Given the description of an element on the screen output the (x, y) to click on. 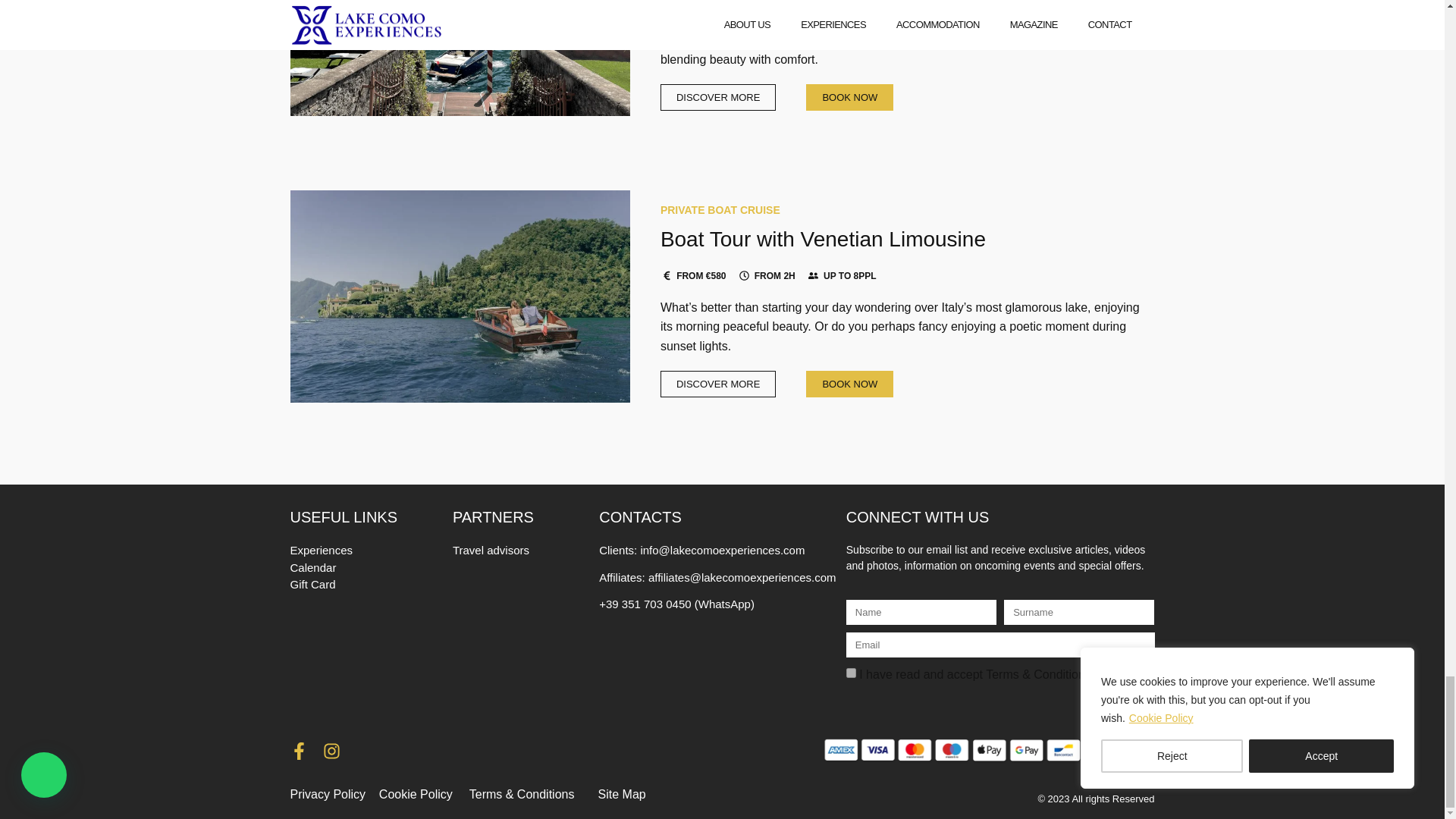
on (850, 673)
